Given the description of an element on the screen output the (x, y) to click on. 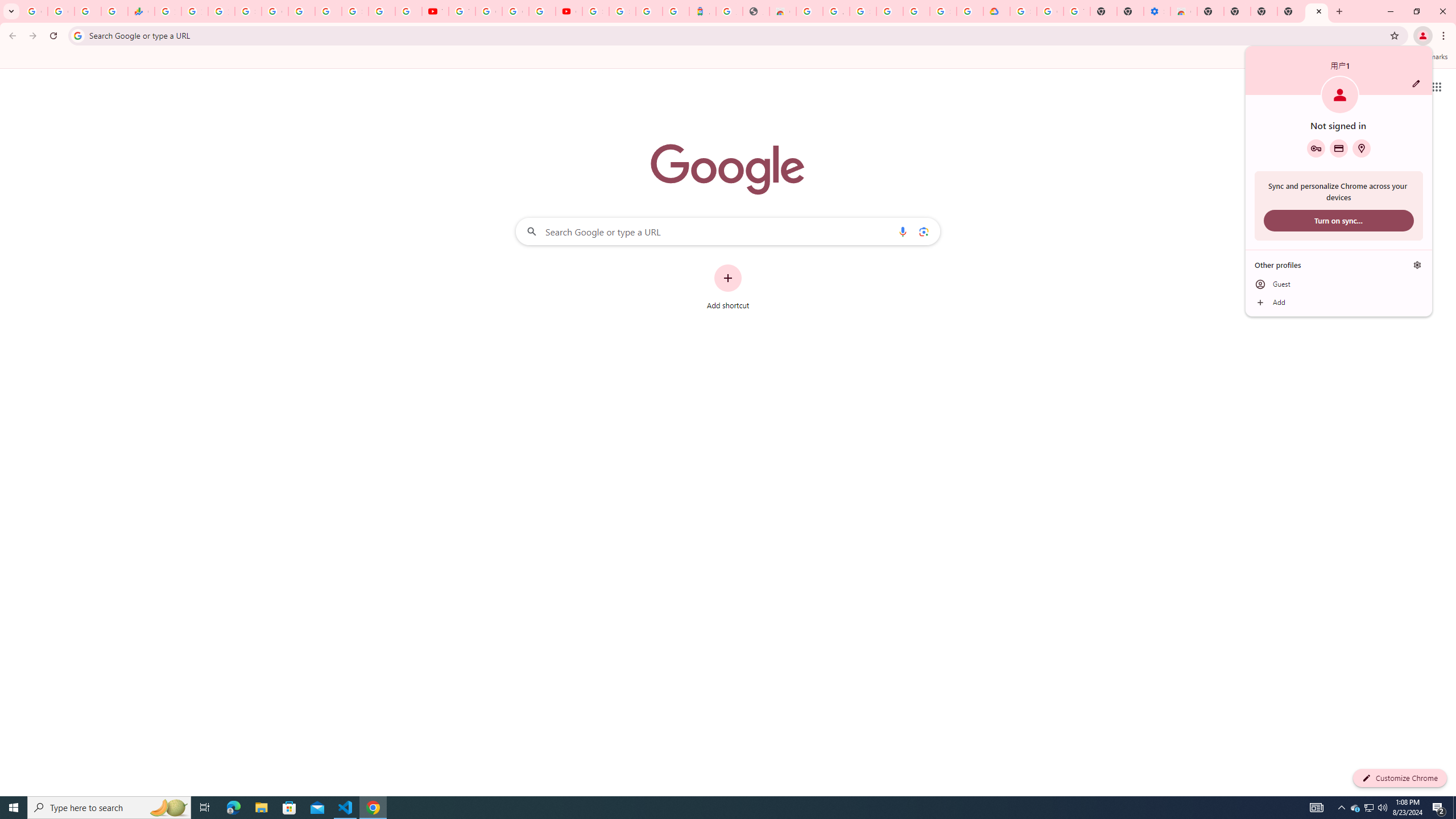
Sign in - Google Accounts (248, 11)
Turn cookies on or off - Computer - Google Account Help (1076, 11)
Content Creator Programs & Opportunities - YouTube Creators (569, 11)
Google Chrome - 1 running window (373, 807)
Show desktop (1454, 807)
File Explorer (261, 807)
New Tab (1290, 11)
Manage profiles (1417, 265)
Addresses and more (1368, 807)
